Given the description of an element on the screen output the (x, y) to click on. 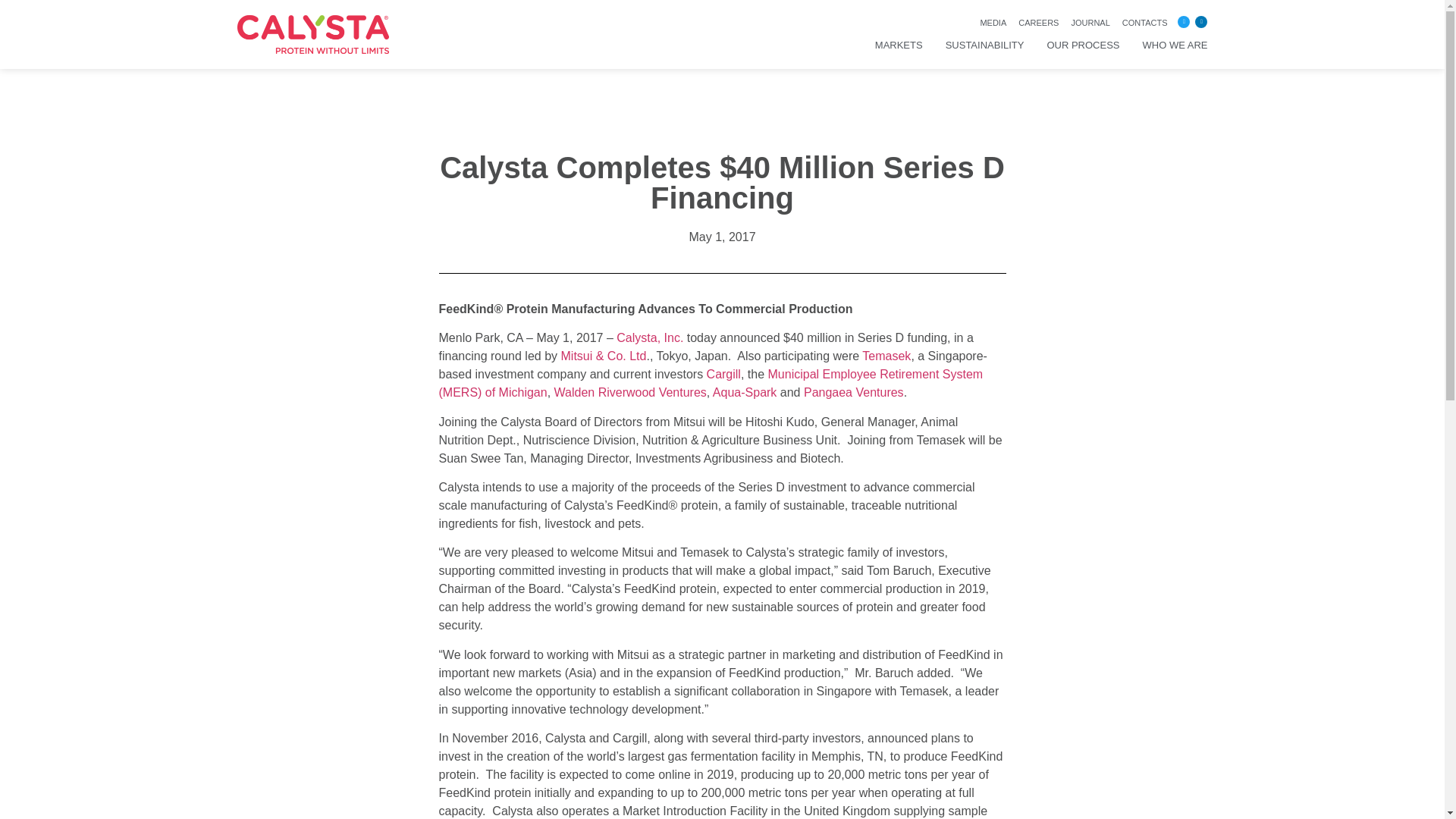
SUSTAINABILITY (984, 45)
Temasek (886, 355)
Calysta, Inc. (648, 337)
MEDIA (992, 22)
Cargill (723, 373)
WHO WE ARE (1175, 45)
OUR PROCESS (1082, 45)
JOURNAL (1089, 22)
MARKETS (899, 45)
CONTACTS (1144, 22)
CAREERS (1037, 22)
